Given the description of an element on the screen output the (x, y) to click on. 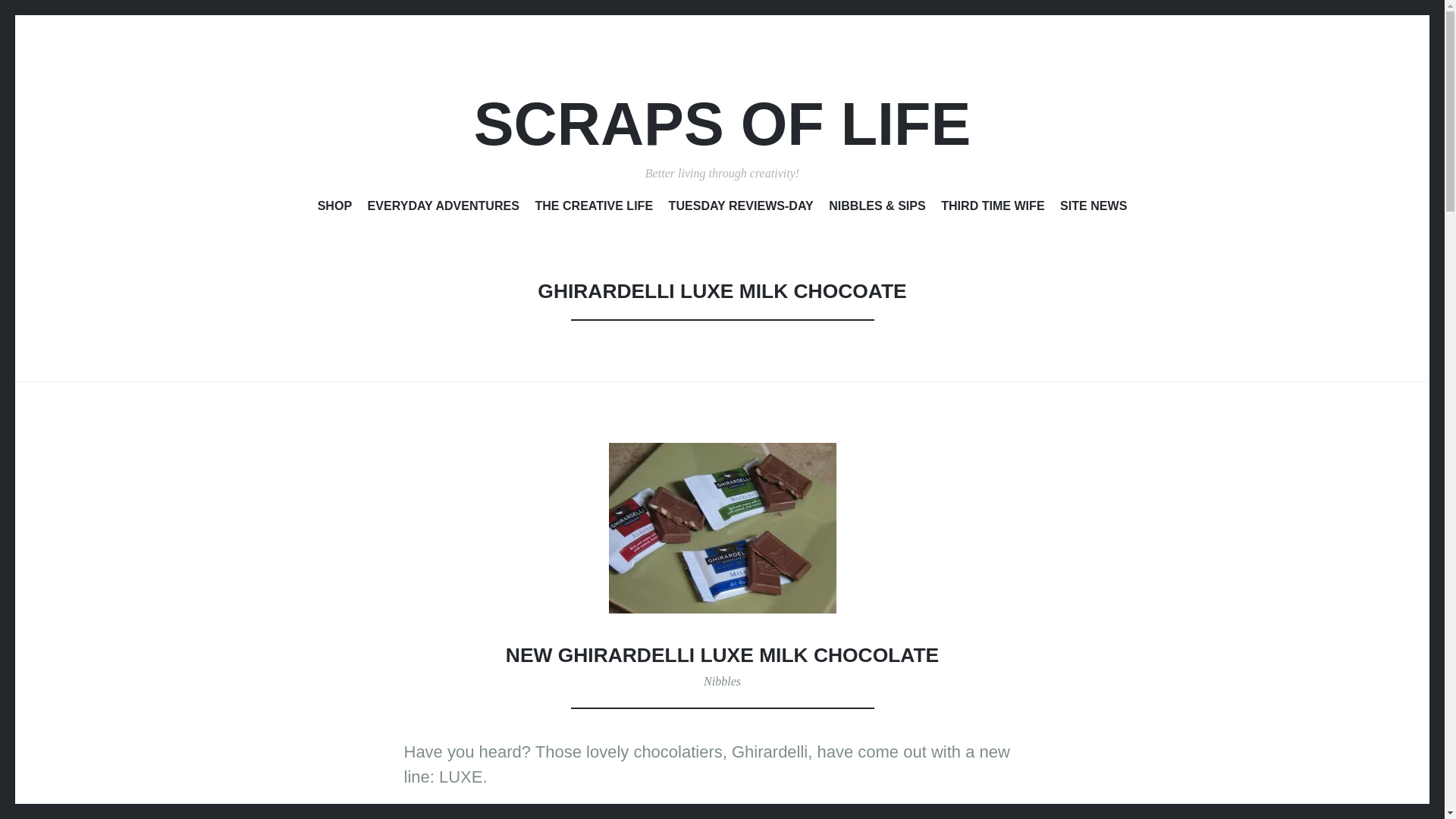
TUESDAY REVIEWS-DAY (740, 208)
EVERYDAY ADVENTURES (443, 208)
SCRAPS OF LIFE (722, 123)
THE CREATIVE LIFE (593, 208)
THIRD TIME WIFE (991, 208)
SHOP (334, 208)
Nibbles (722, 680)
SITE NEWS (1092, 208)
NEW GHIRARDELLI LUXE MILK CHOCOLATE (722, 654)
